Given the description of an element on the screen output the (x, y) to click on. 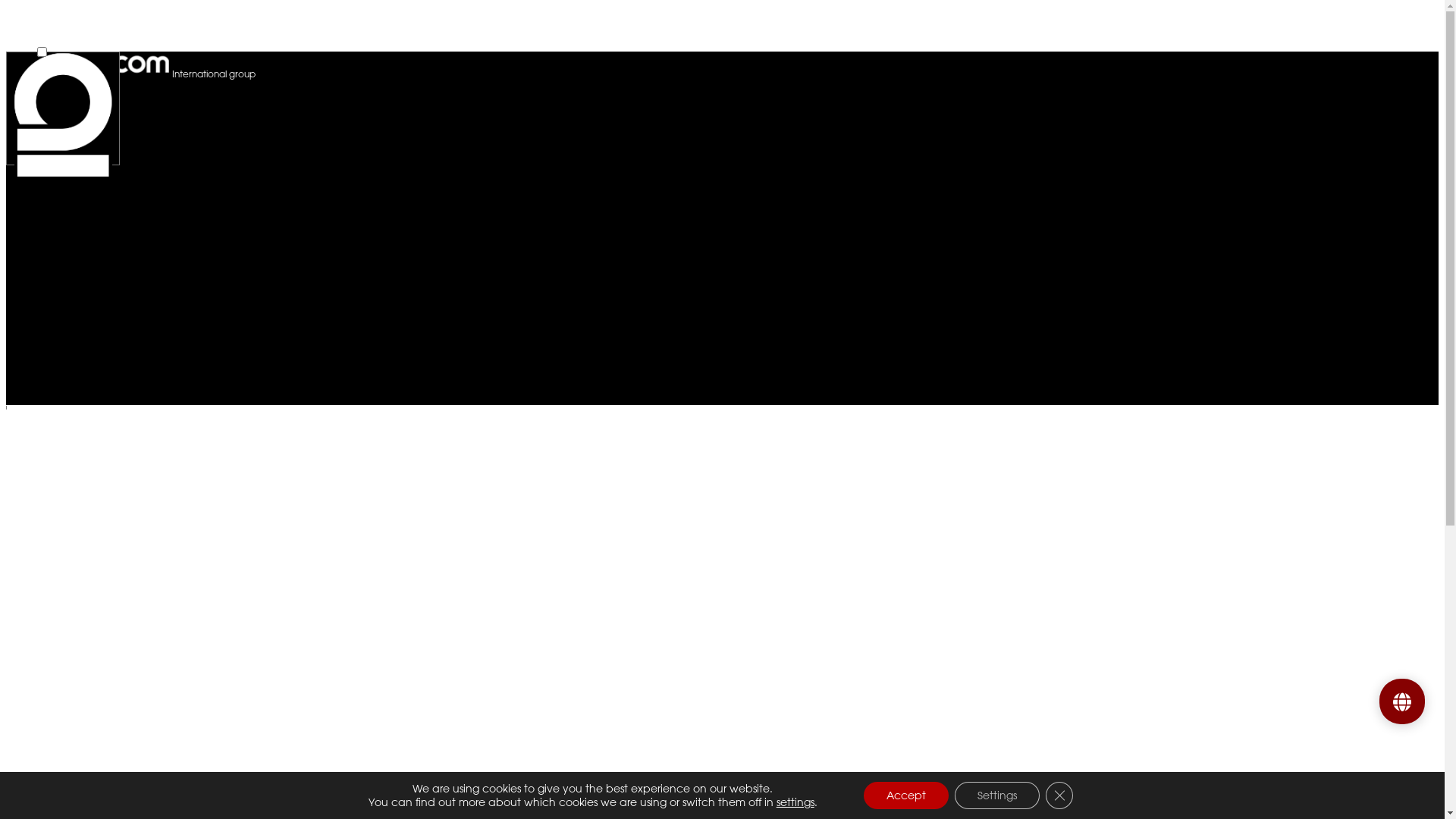
settings Element type: text (795, 802)
Accept Element type: text (905, 795)
Settings Element type: text (996, 795)
Shop Element type: text (1350, 21)
Close GDPR Cookie Banner Element type: text (1059, 795)
